Given the description of an element on the screen output the (x, y) to click on. 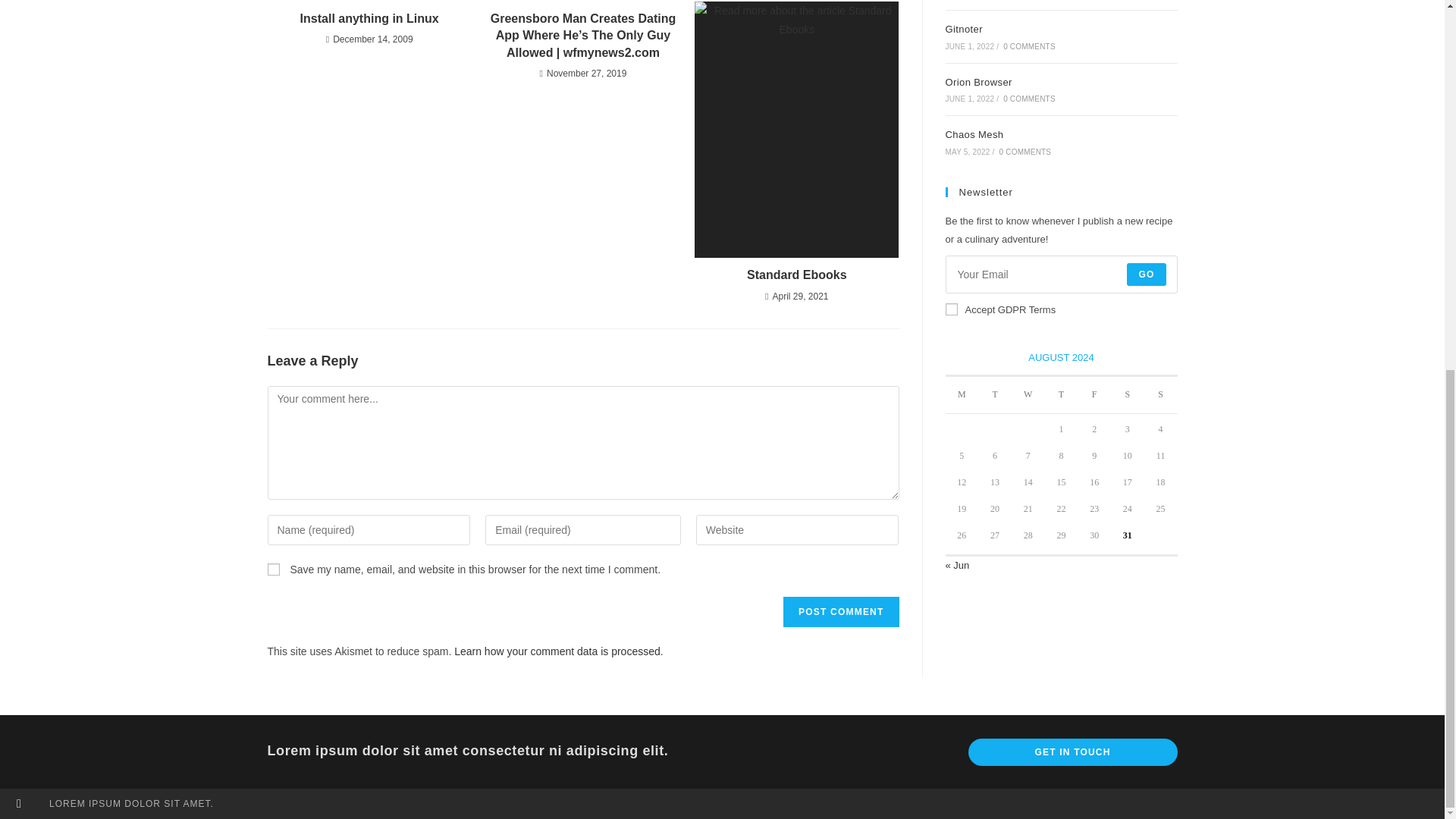
1 (950, 309)
Wednesday (1028, 395)
yes (272, 569)
Post Comment (840, 612)
Friday (1093, 395)
Thursday (1061, 395)
Tuesday (994, 395)
Monday (961, 395)
